Given the description of an element on the screen output the (x, y) to click on. 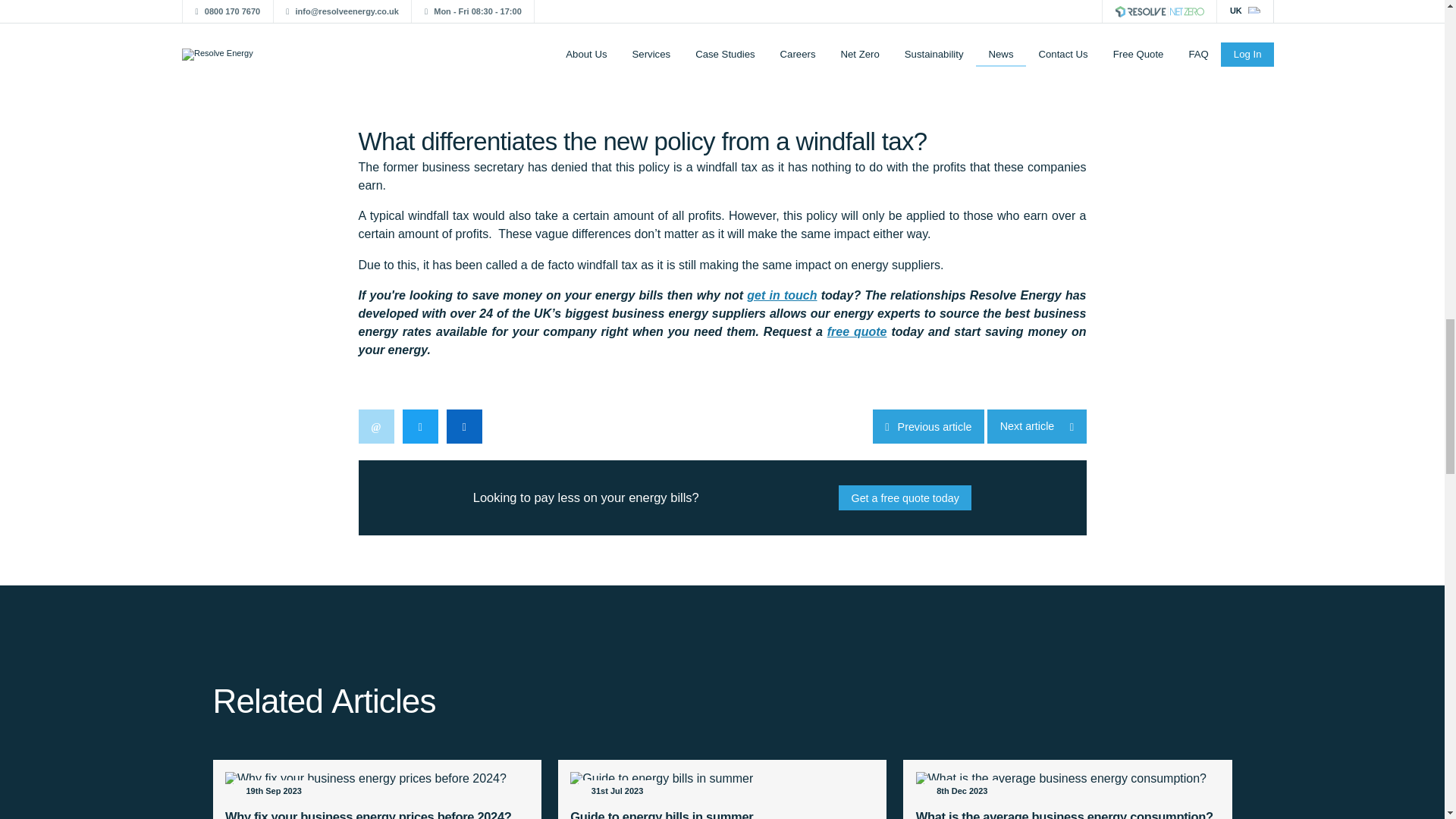
Previous article (928, 426)
free quote (856, 331)
Share on Twitter (419, 426)
get in touch (781, 295)
Get a free quote today (904, 497)
Share on LinkedIn (463, 426)
Share via Email (375, 426)
Next article (1036, 426)
